Given the description of an element on the screen output the (x, y) to click on. 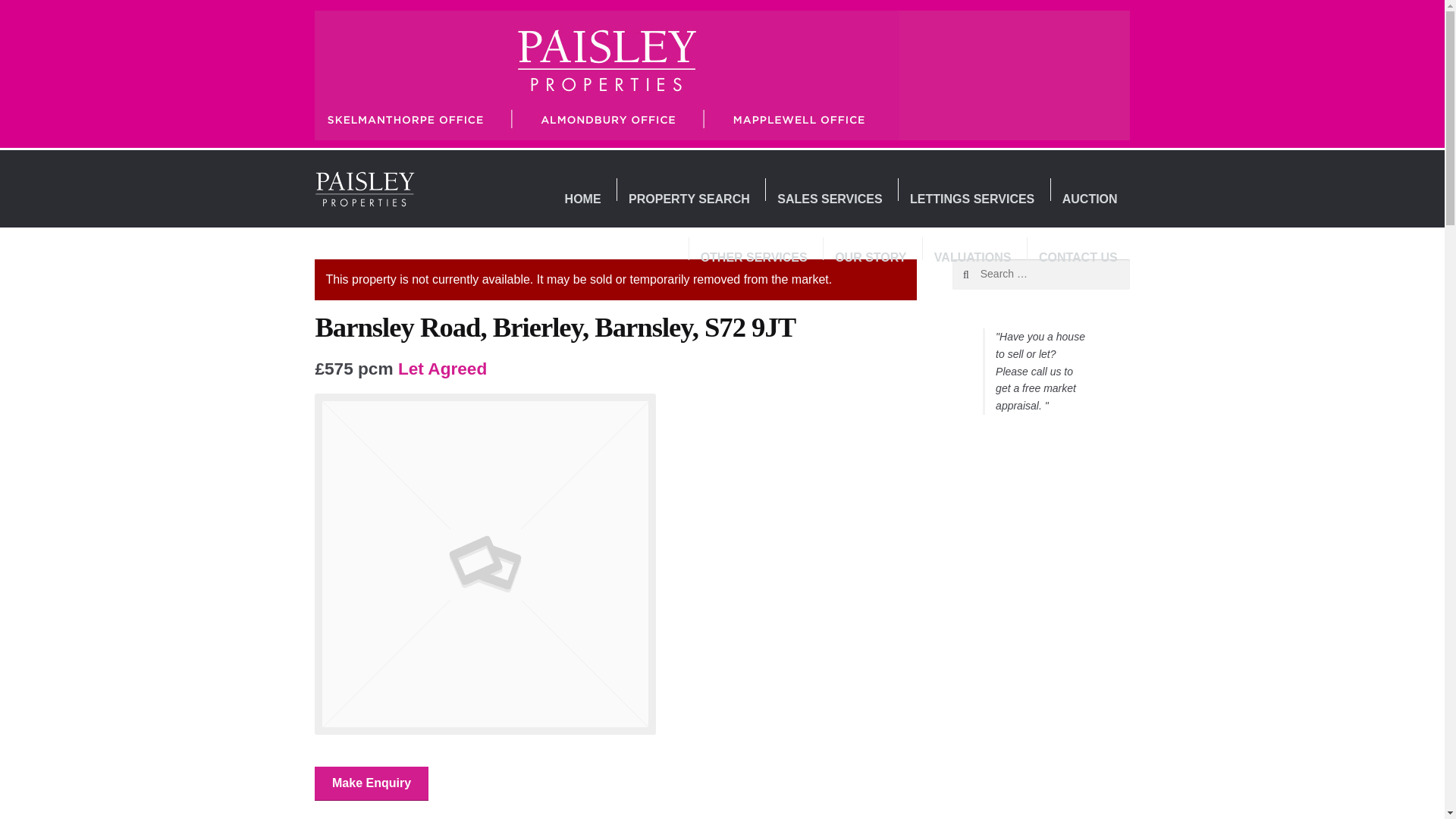
PROPERTY SEARCH (688, 199)
OUR STORY (870, 258)
HOME (582, 199)
AUCTION (1089, 199)
Search (984, 274)
VALUATIONS (972, 258)
Search (984, 274)
CONTACT US (1077, 258)
Skip to navigation (366, 179)
OTHER SERVICES (753, 258)
